Given the description of an element on the screen output the (x, y) to click on. 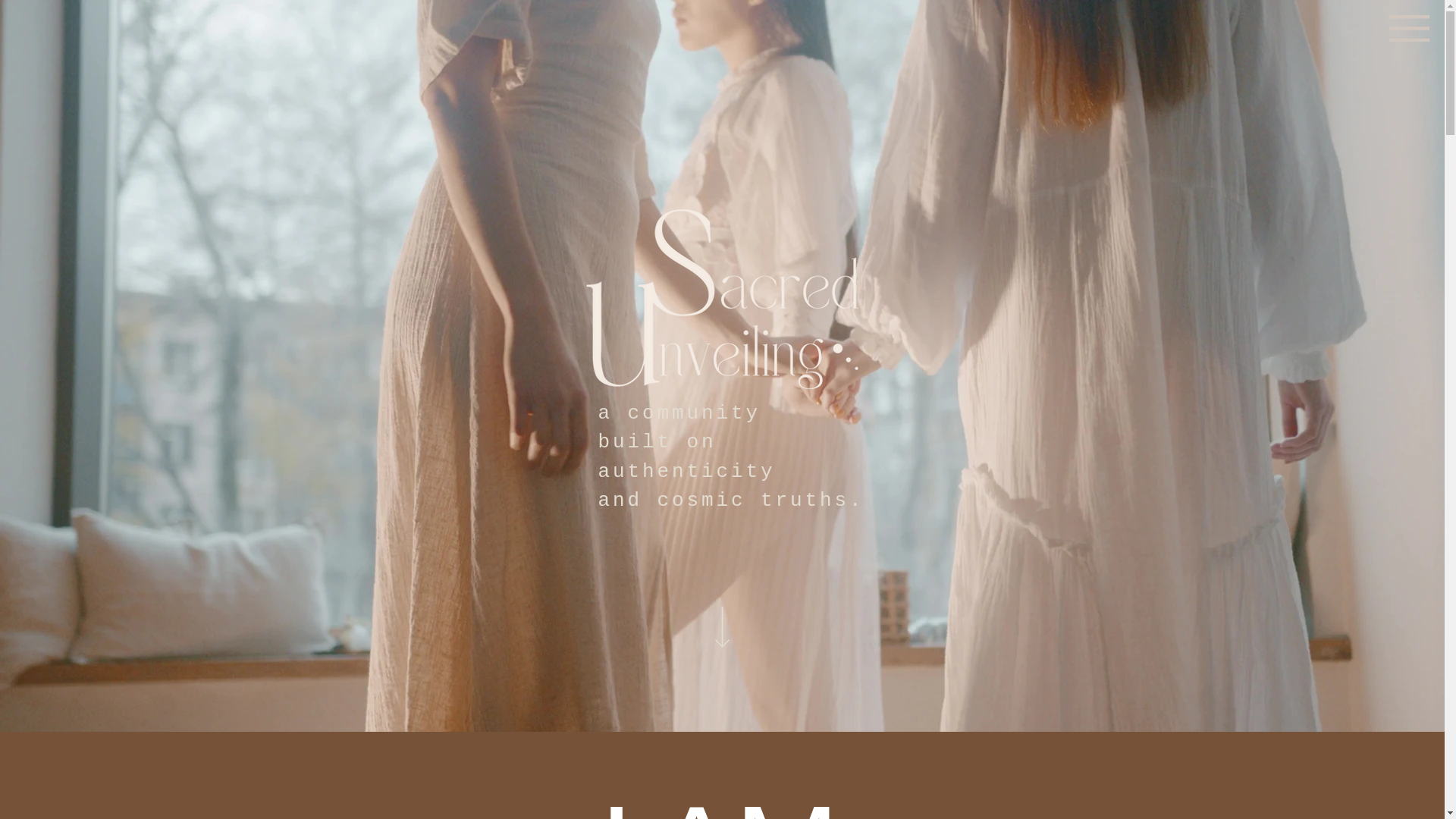
full233.png (721, 298)
